Given the description of an element on the screen output the (x, y) to click on. 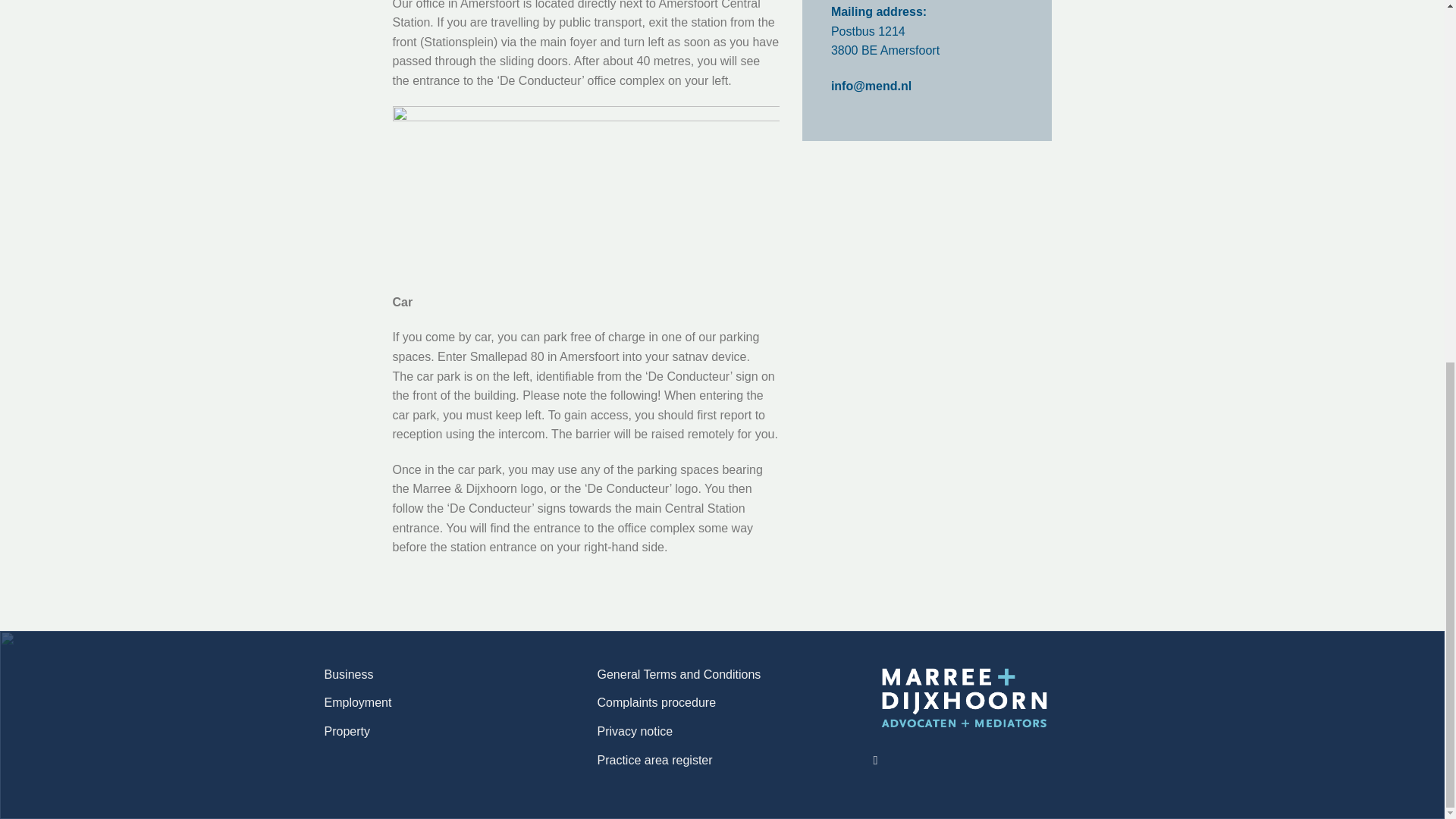
Employment (357, 702)
Complaints procedure (656, 702)
Property (346, 731)
Privacy notice (634, 731)
Practice area register (654, 760)
General Terms and Conditions (678, 674)
Business (349, 674)
